Given the description of an element on the screen output the (x, y) to click on. 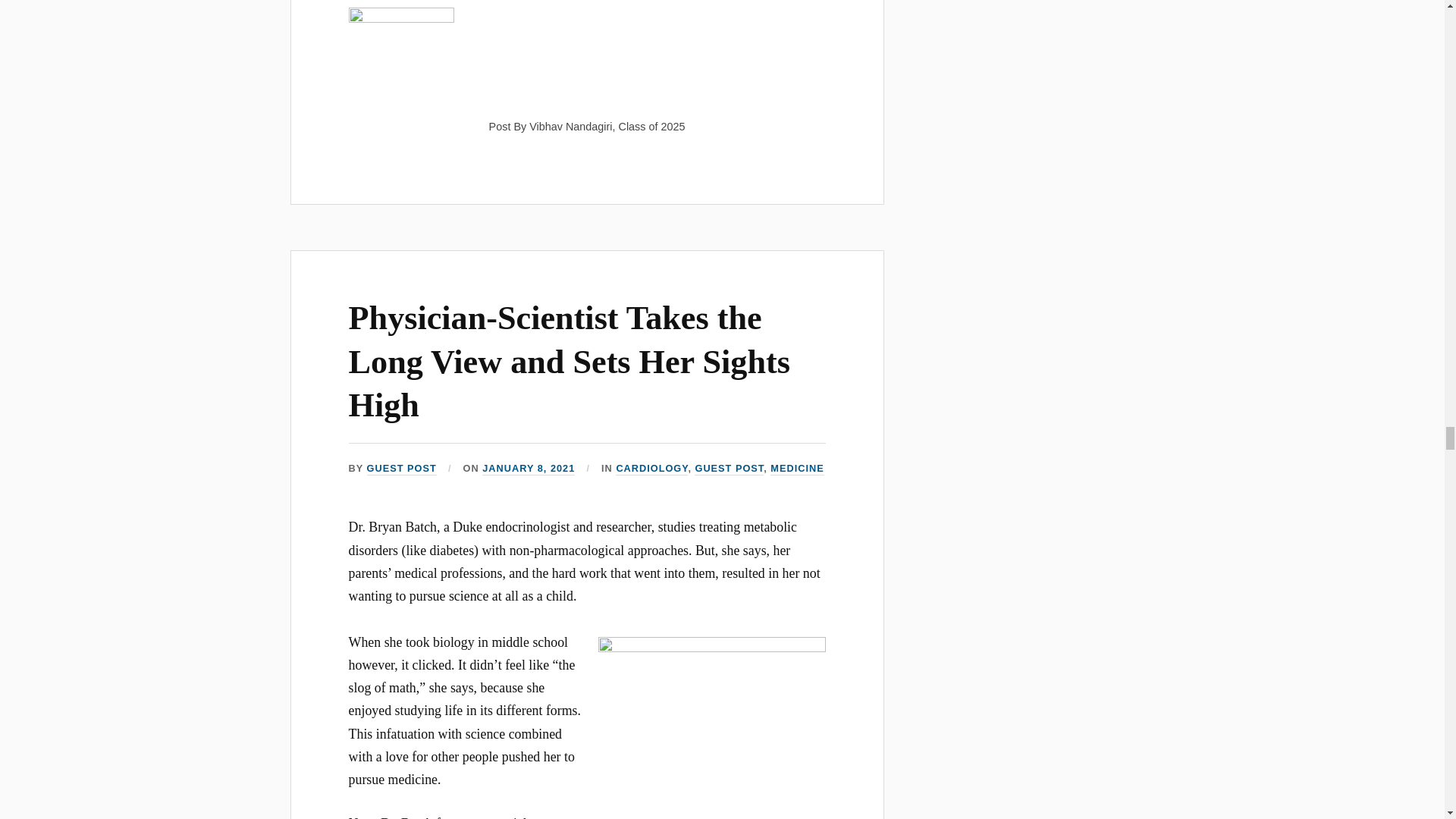
Posts by Guest Post (401, 468)
